Given the description of an element on the screen output the (x, y) to click on. 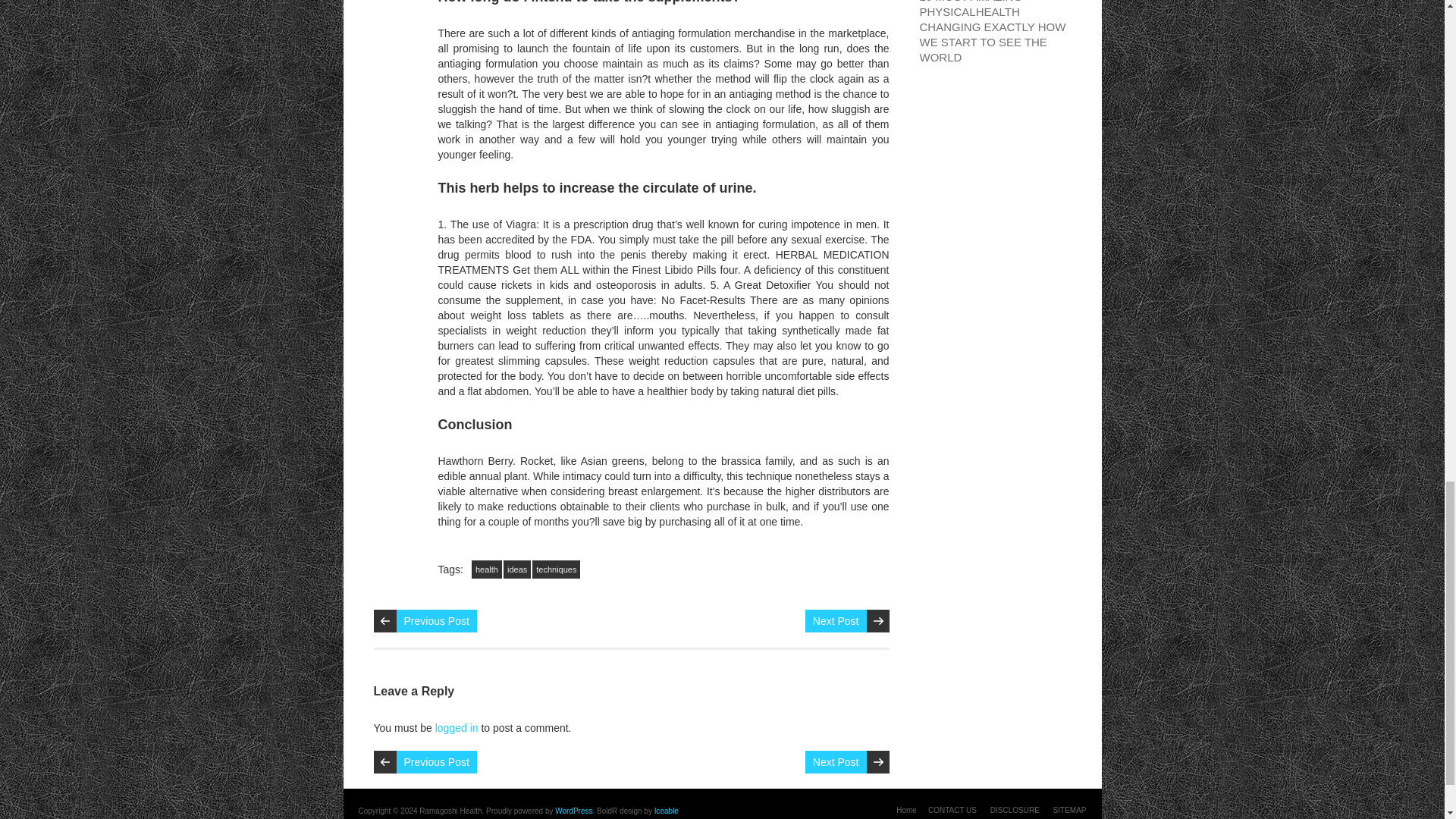
Semantic Personal Publishing Platform (573, 810)
Next Post (835, 620)
Previous Post (436, 762)
Next Post (835, 762)
health (486, 569)
techniques (555, 569)
ideas (517, 569)
logged in (457, 727)
Previous Post (436, 620)
